Given the description of an element on the screen output the (x, y) to click on. 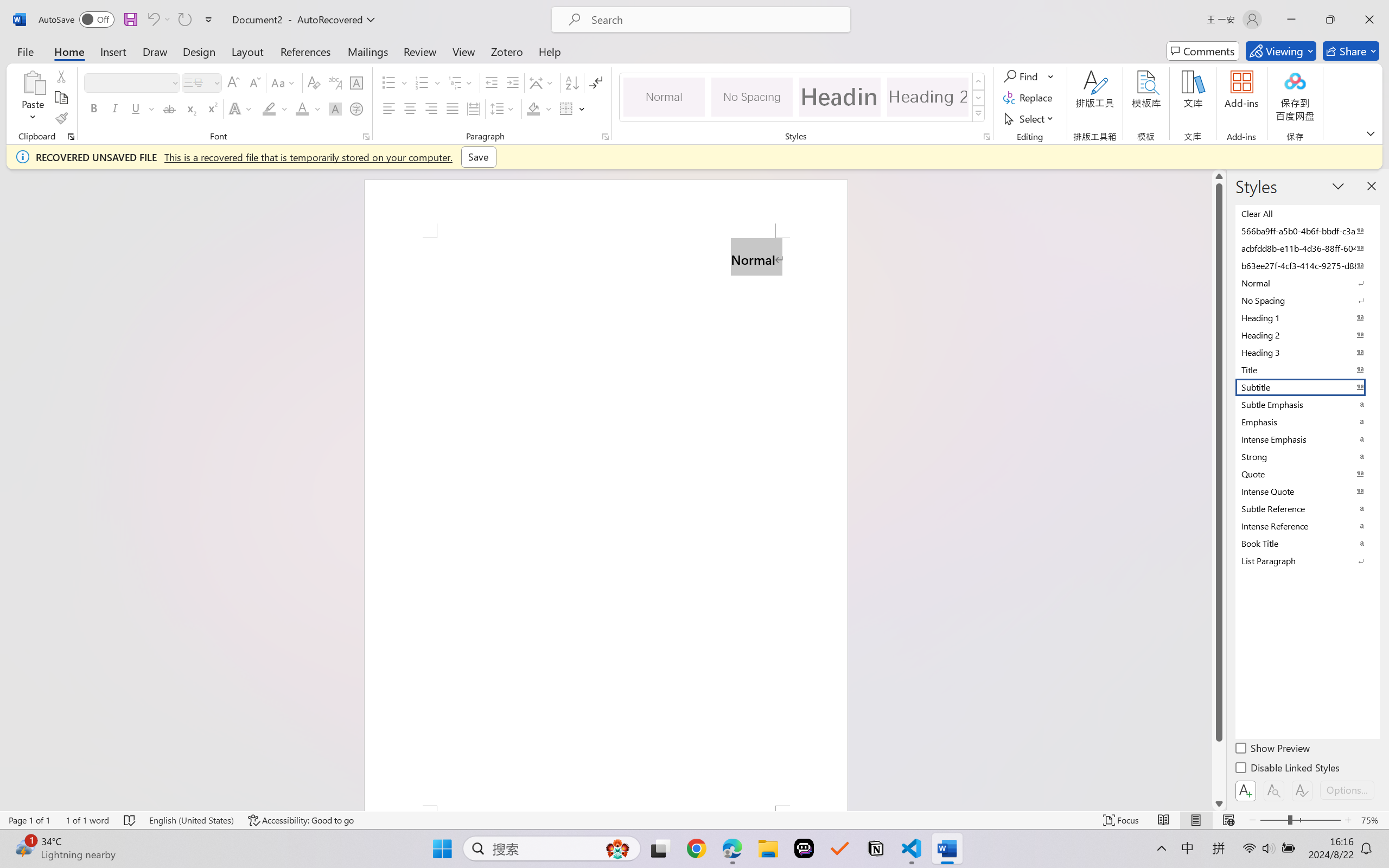
Text Highlight Color (274, 108)
Styles... (986, 136)
